Given the description of an element on the screen output the (x, y) to click on. 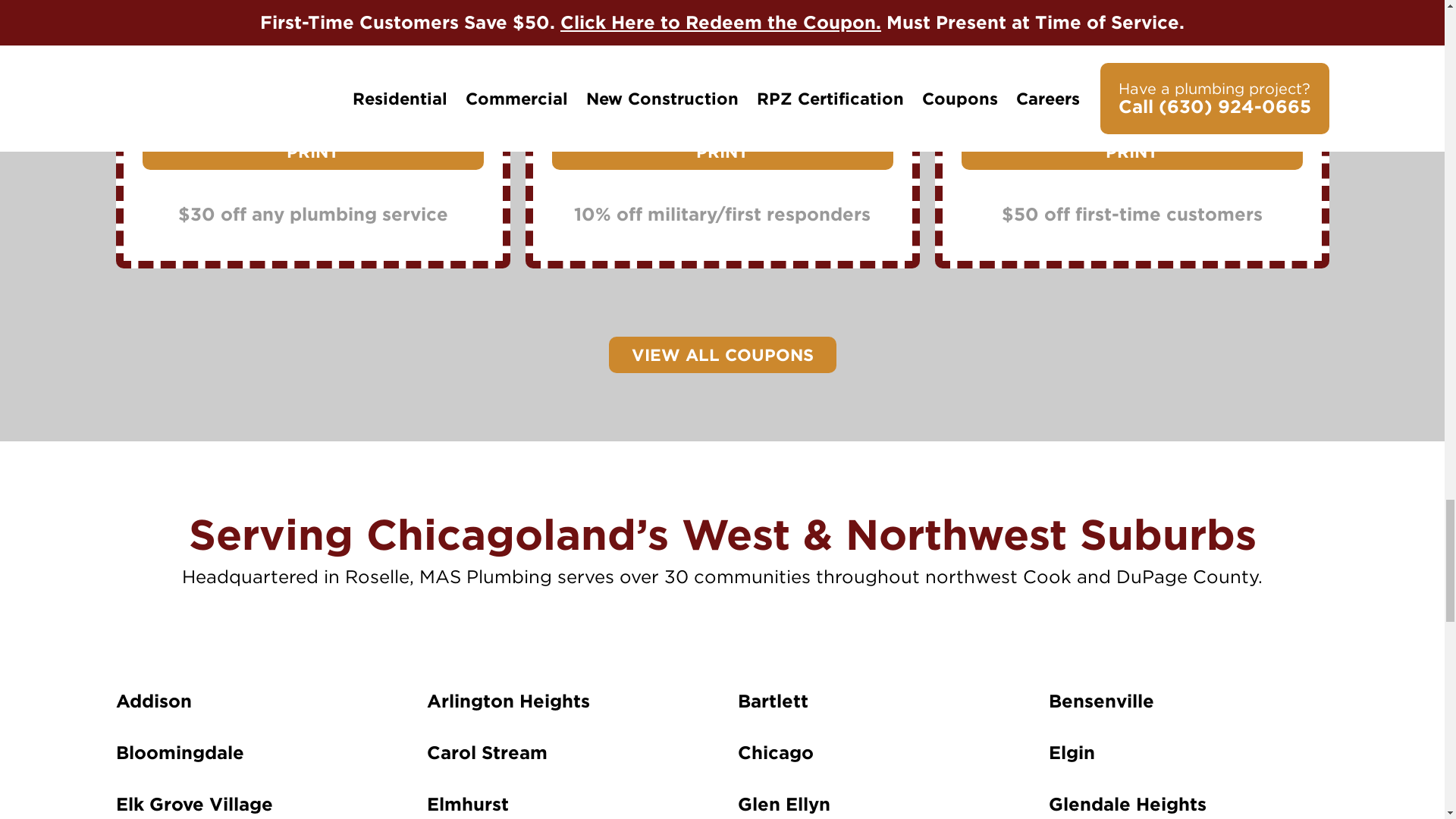
PRINT (1131, 151)
VIEW ALL COUPONS (721, 354)
PRINT (722, 151)
PRINT (312, 151)
